Given the description of an element on the screen output the (x, y) to click on. 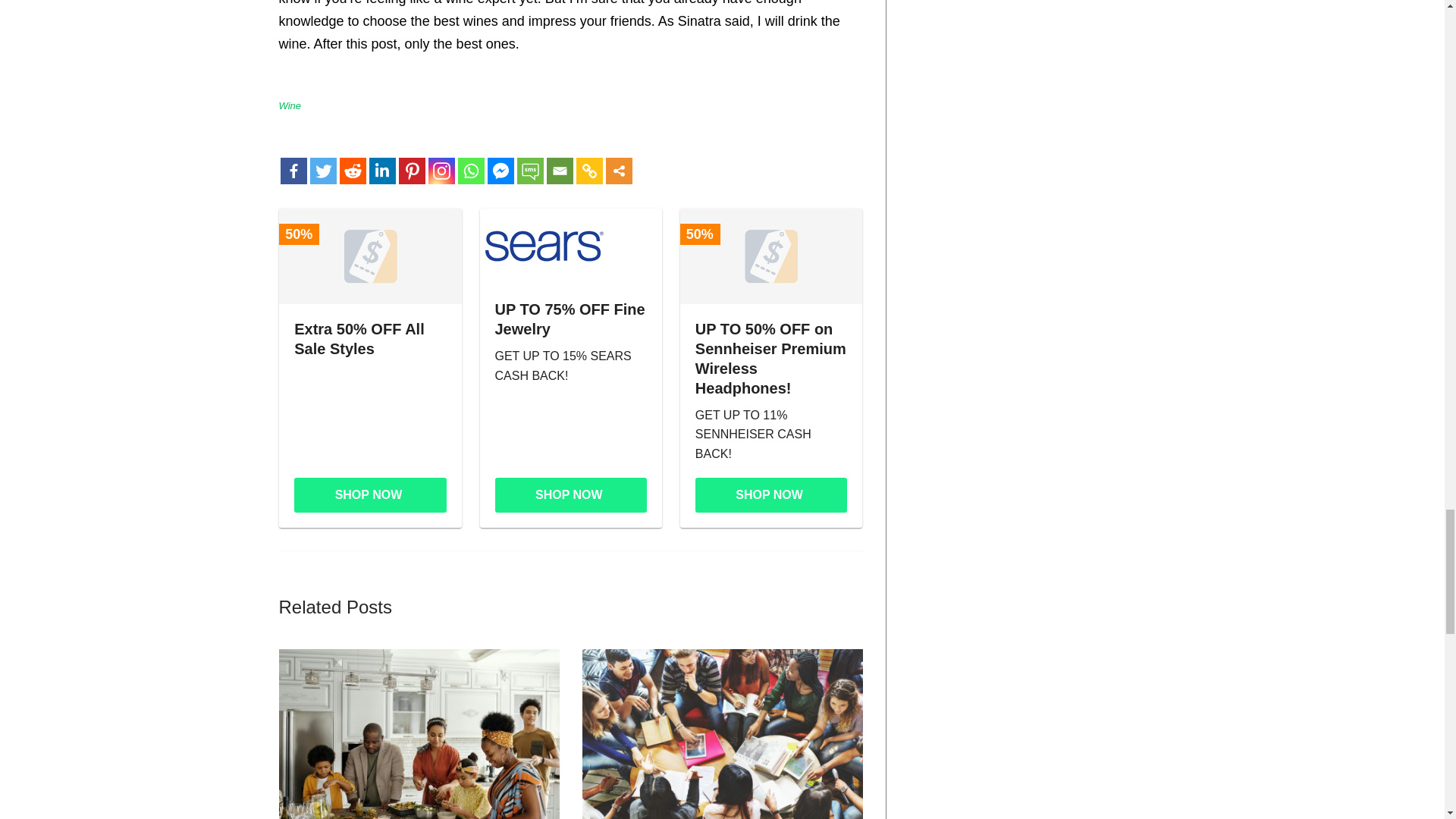
Email (559, 171)
Copy Link (589, 171)
SHOP NOW (570, 494)
Facebook Messenger (499, 171)
Wine (290, 105)
Linkedin (381, 171)
SHOP NOW (771, 494)
More (618, 171)
SHOP NOW (370, 494)
SMS (529, 171)
